Given the description of an element on the screen output the (x, y) to click on. 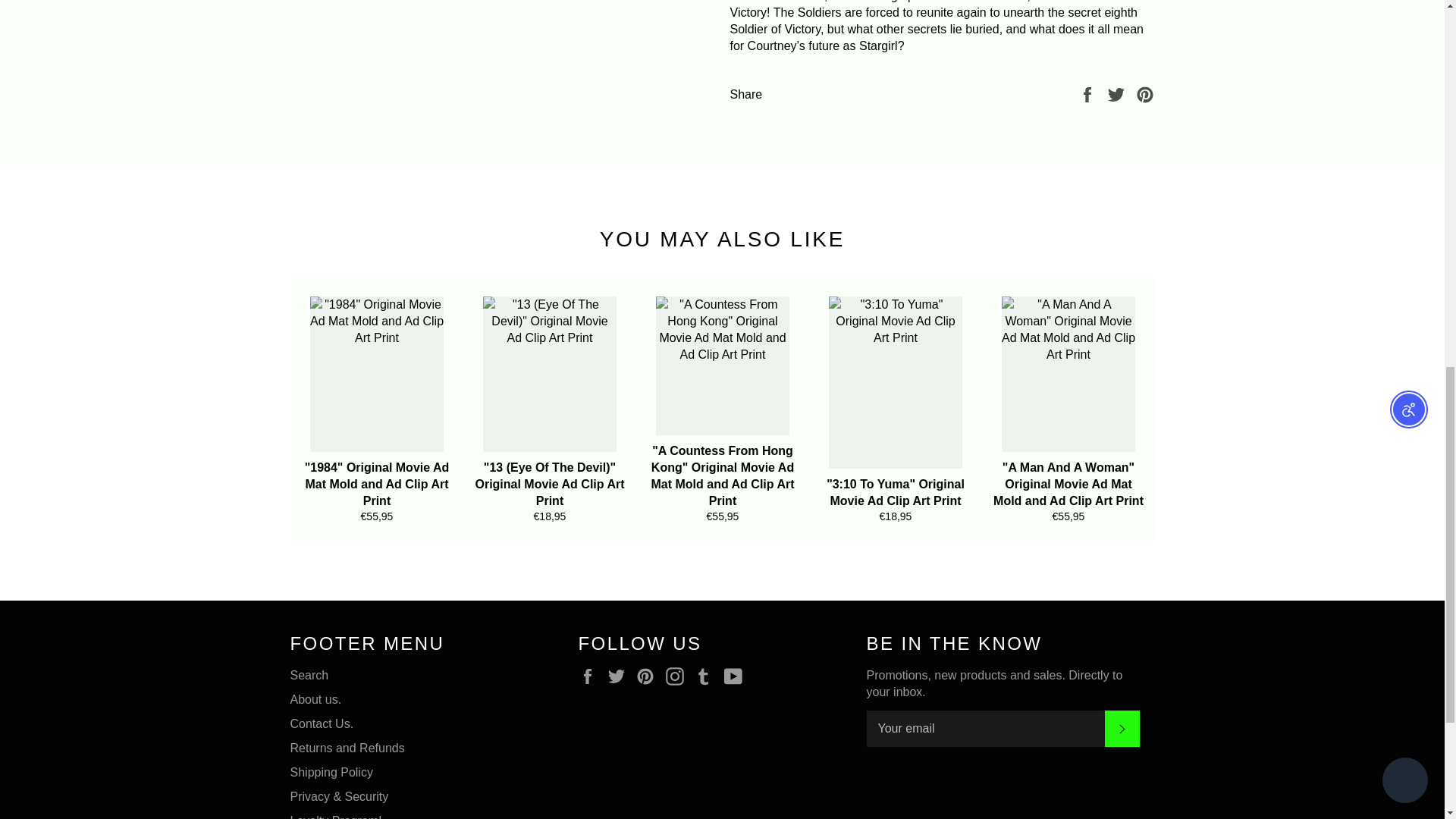
Corn Coast Comics on Facebook (591, 676)
Corn Coast Comics on Twitter (620, 676)
Corn Coast Comics on YouTube (736, 676)
Pin on Pinterest (1144, 93)
Corn Coast Comics on Instagram (678, 676)
Share on Facebook (1088, 93)
Corn Coast Comics on Tumblr (707, 676)
Tweet on Twitter (1117, 93)
Corn Coast Comics on Pinterest (649, 676)
